Given the description of an element on the screen output the (x, y) to click on. 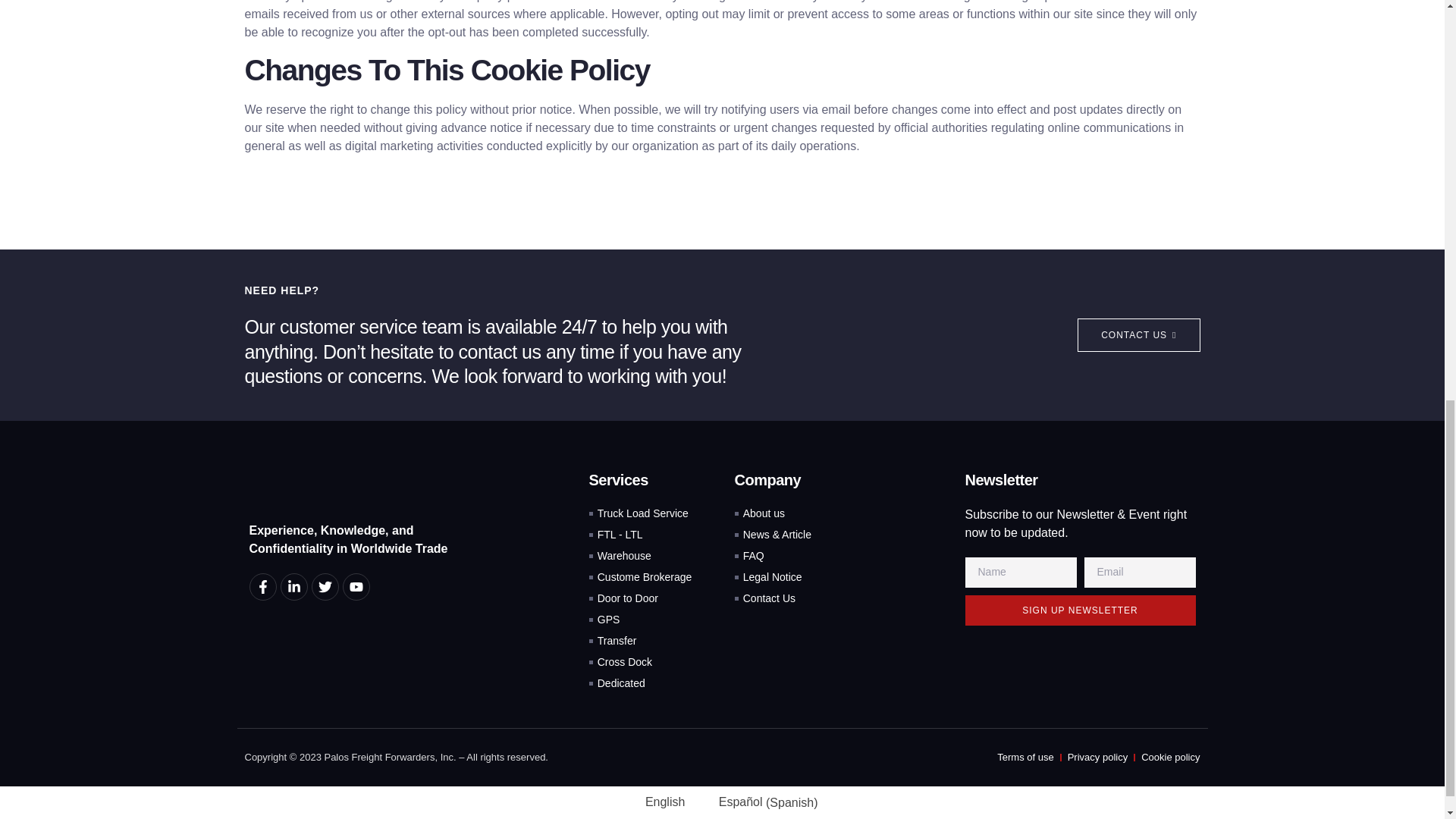
CONTACT US (1138, 335)
